Given the description of an element on the screen output the (x, y) to click on. 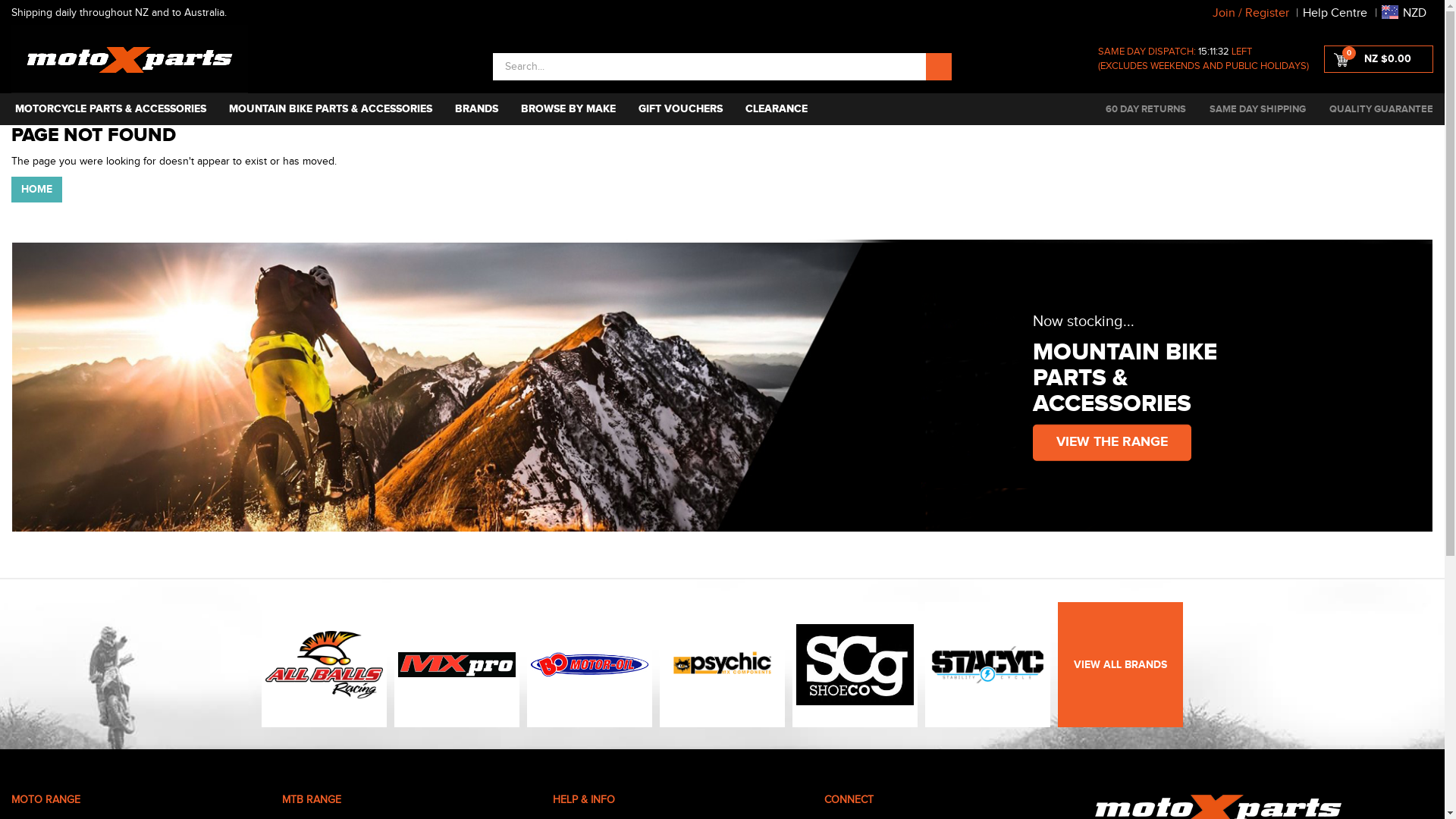
0
NZ $0.00 Element type: text (1378, 58)
Join / Register Element type: text (1250, 12)
MOUNTAIN BIKE PARTS & ACCESSORIES Element type: text (330, 109)
VIEW ALL BRANDS Element type: text (1120, 664)
VIEW THE RANGE Element type: text (1111, 442)
HOME Element type: text (36, 188)
MOTORCYCLE PARTS & ACCESSORIES Element type: text (108, 109)
GIFT VOUCHERS Element type: text (680, 109)
Help Centre Element type: text (1335, 12)
BROWSE BY MAKE Element type: text (568, 109)
NZD Element type: text (1404, 12)
CLEARANCE Element type: text (776, 109)
MotoXparts  Element type: hover (129, 59)
Search Element type: text (938, 66)
BRANDS Element type: text (476, 109)
